Given the description of an element on the screen output the (x, y) to click on. 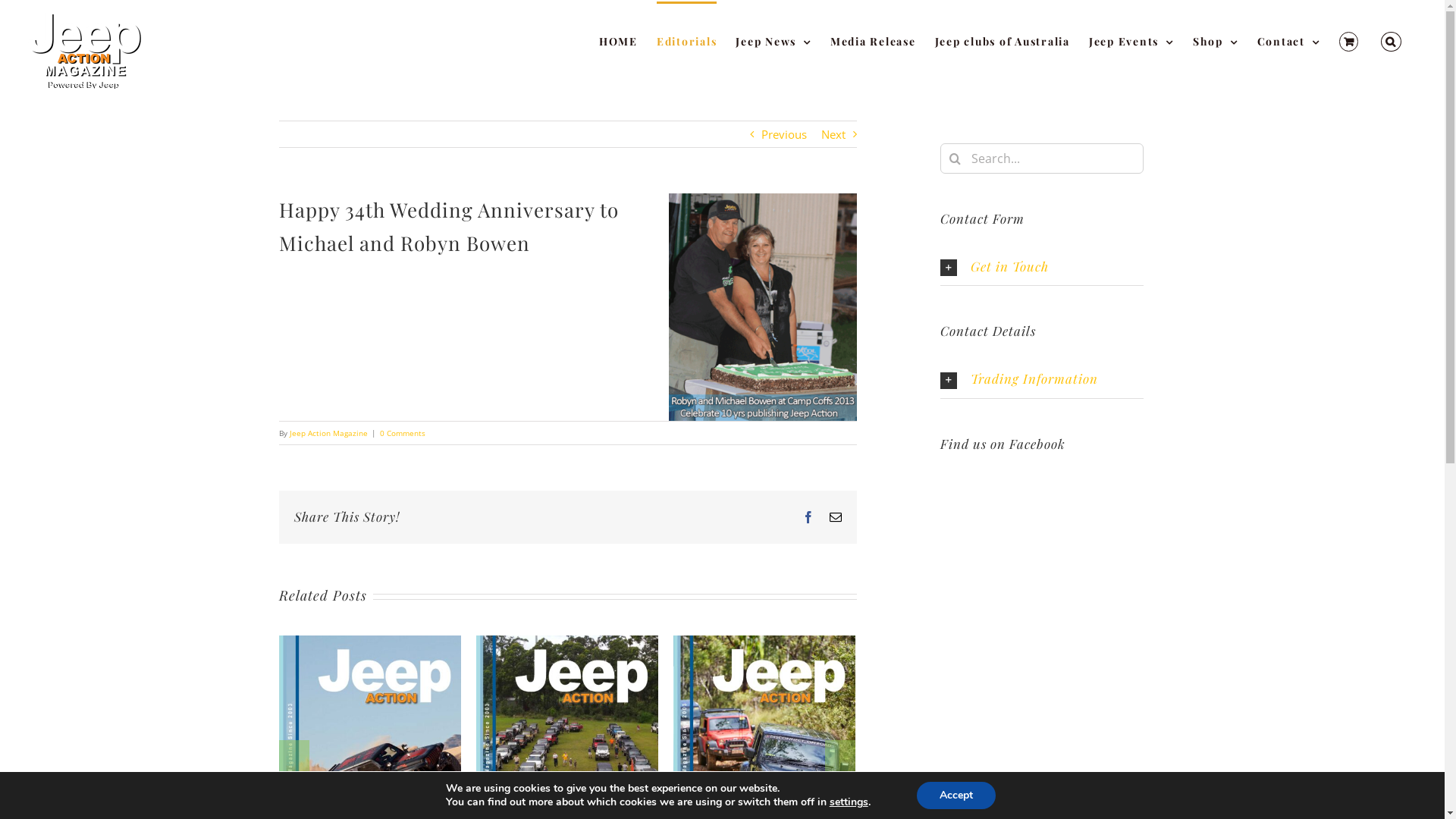
Search Element type: hover (1390, 40)
HOME Element type: text (618, 40)
Trading Information Element type: text (1041, 379)
Jeep Action Magazine Element type: text (328, 432)
Next Element type: text (833, 134)
Contact Element type: text (1288, 40)
Email Element type: text (835, 517)
Accept Element type: text (955, 795)
Media Release Element type: text (873, 40)
Facebook Element type: text (808, 517)
Jeep clubs of Australia Element type: text (1002, 40)
Jeep News Element type: text (773, 40)
Jeep Events Element type: text (1130, 40)
Previous Element type: text (783, 134)
Get in Touch Element type: text (1041, 266)
settings Element type: text (848, 802)
Shop Element type: text (1215, 40)
Editorials Element type: text (686, 40)
0 Comments Element type: text (401, 432)
